Given the description of an element on the screen output the (x, y) to click on. 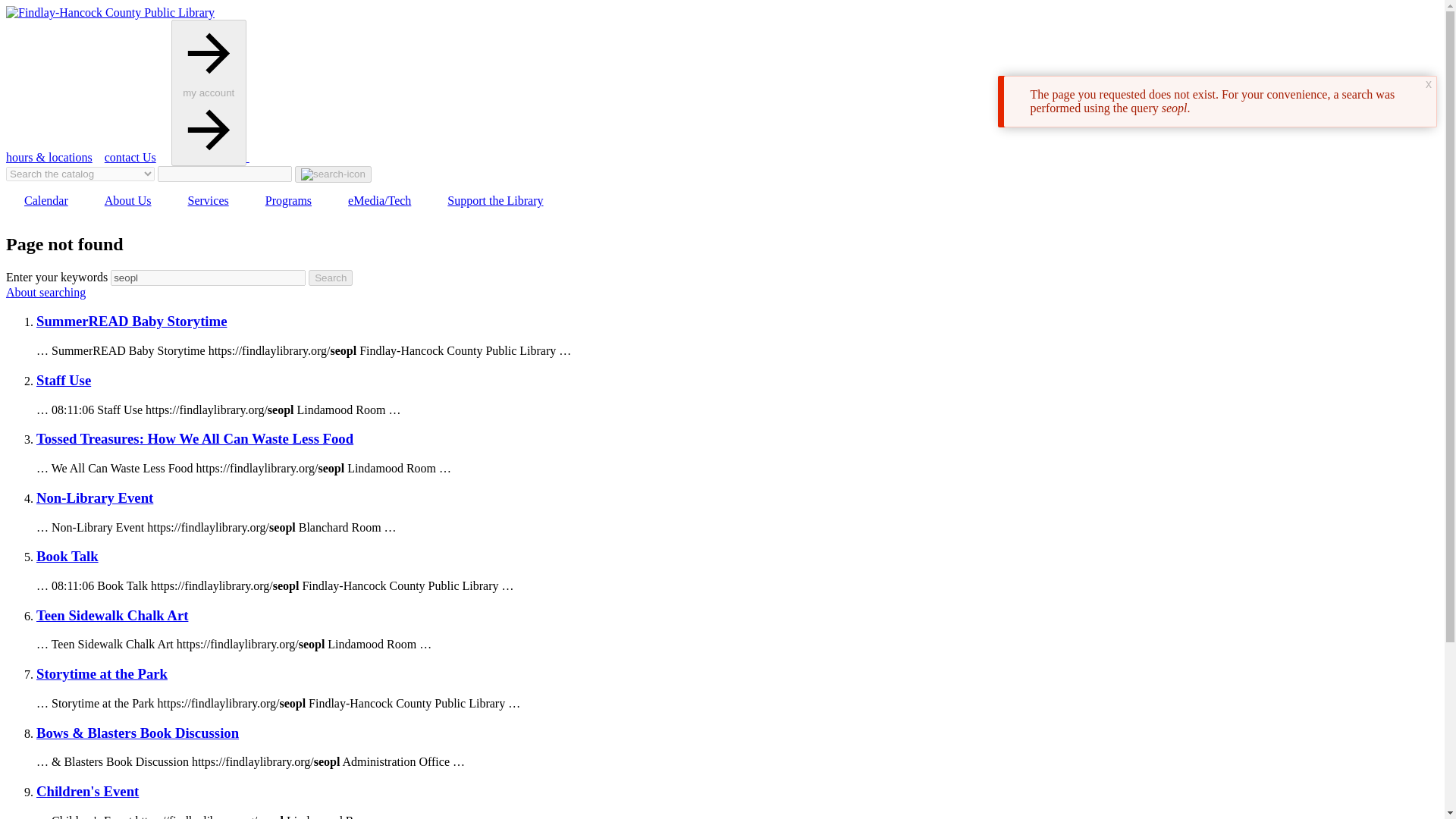
Calendar (45, 200)
Programs (288, 200)
Home (109, 11)
seopl (207, 277)
seopl (207, 277)
contact Us (129, 156)
 my account    (209, 156)
About Us (127, 200)
Services (208, 200)
